Given the description of an element on the screen output the (x, y) to click on. 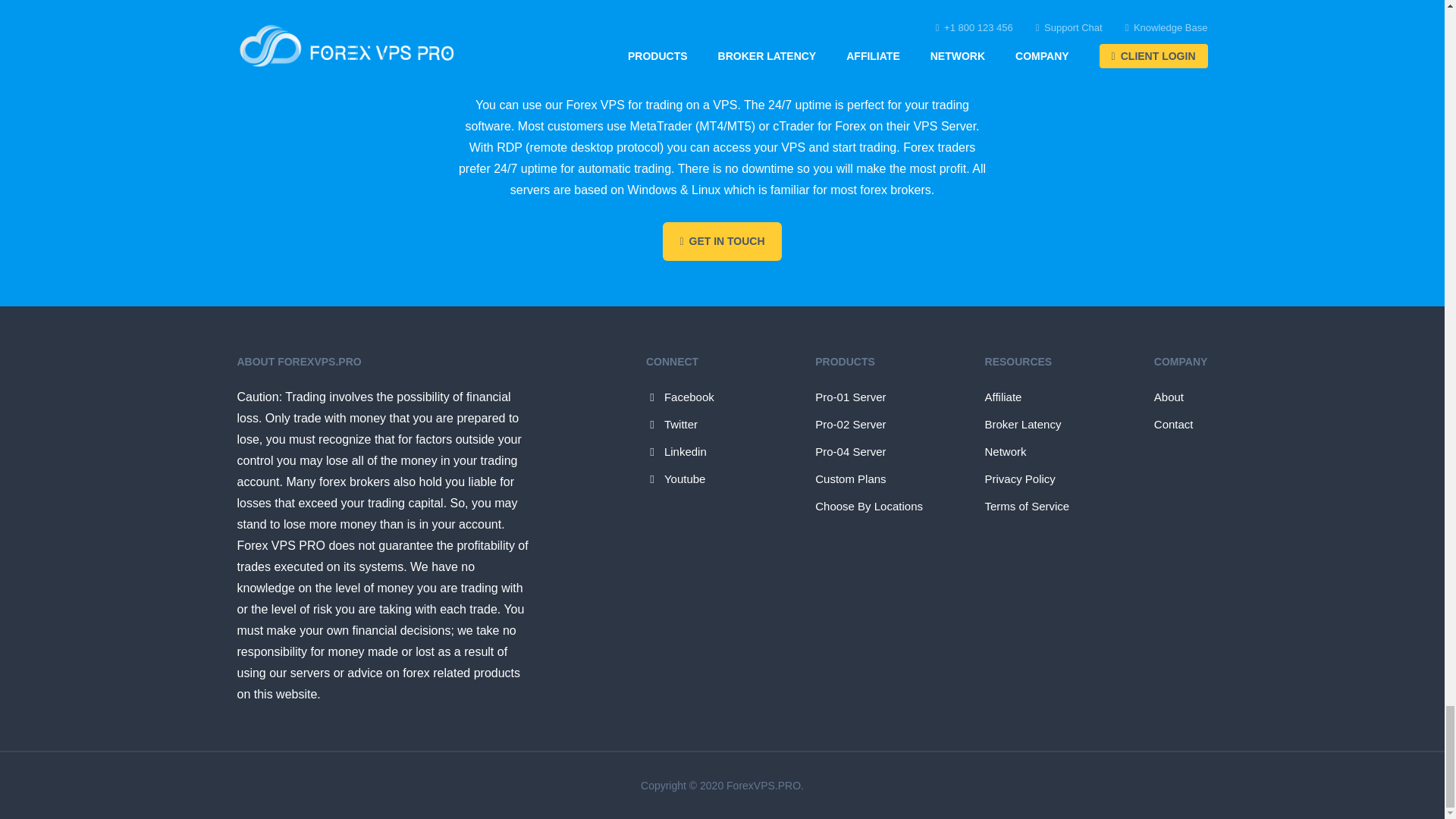
GET IN TOUCH (721, 241)
Facebook (680, 397)
Linkedin (676, 452)
Pro-01 Server (850, 397)
Twitter (671, 424)
Youtube (676, 479)
